Given the description of an element on the screen output the (x, y) to click on. 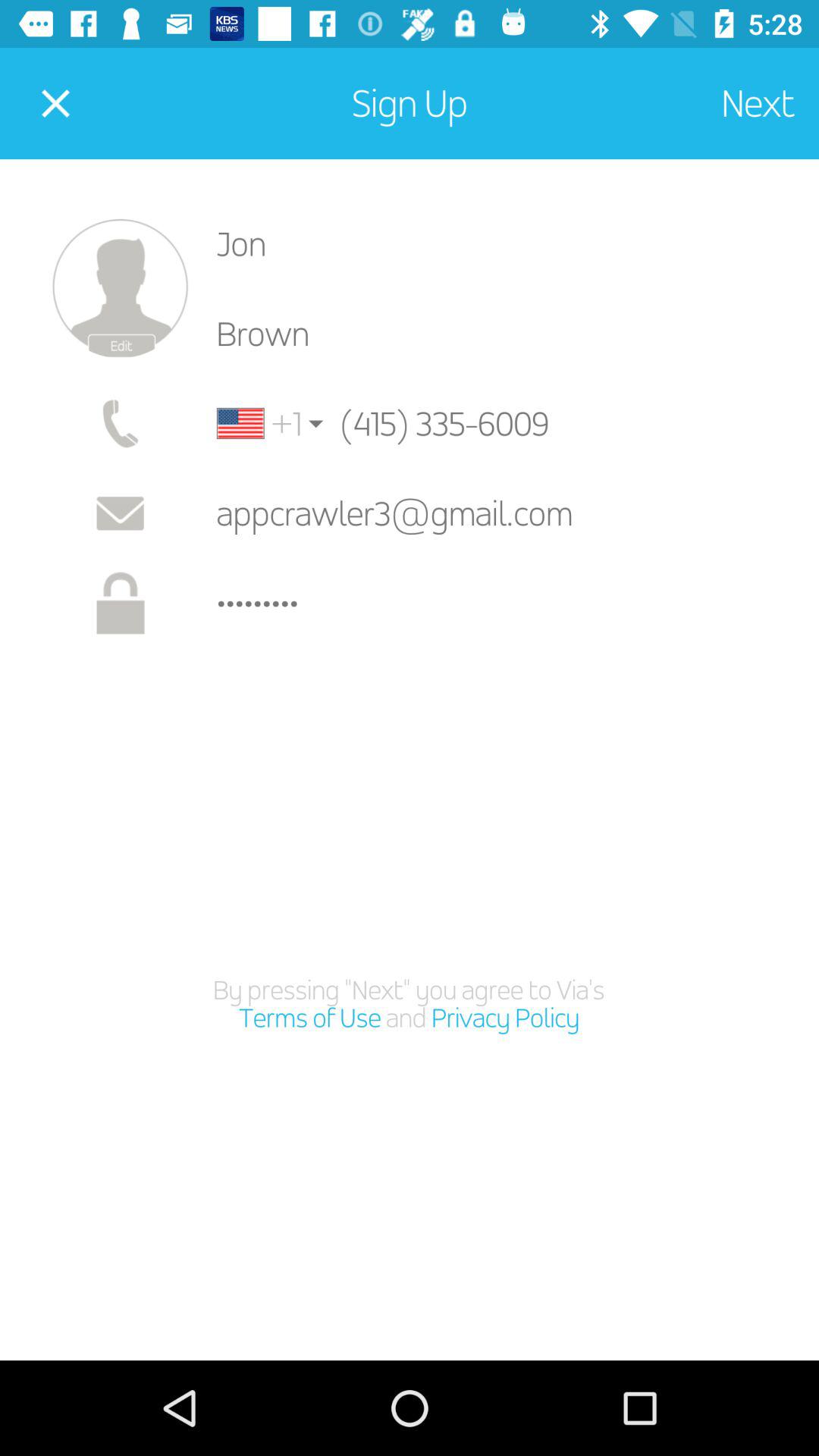
click the jon item (505, 243)
